Given the description of an element on the screen output the (x, y) to click on. 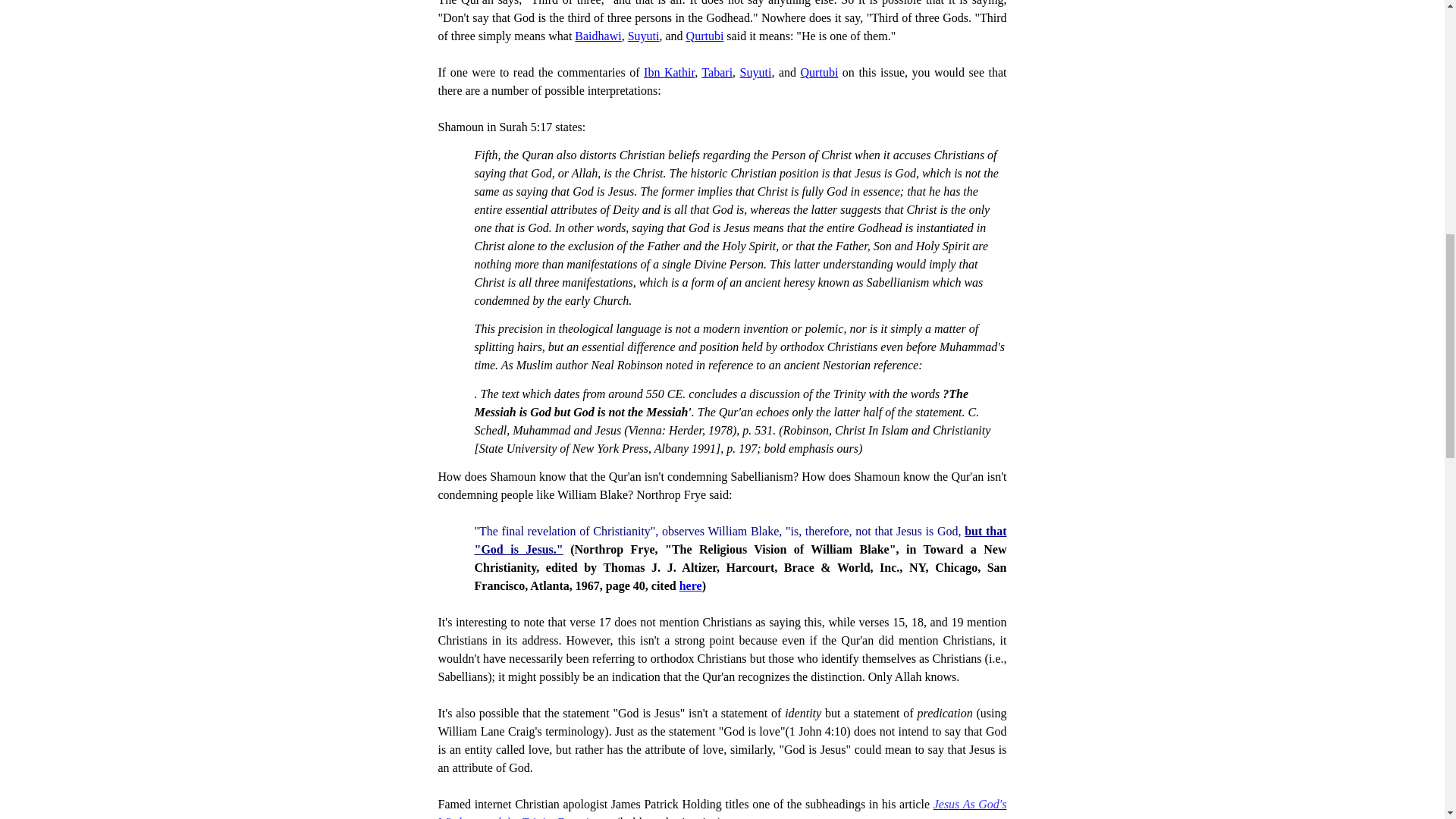
Baidhawi (598, 35)
Suyuti (643, 35)
Tabari (716, 72)
Qurtubi (819, 72)
here (690, 585)
Suyuti (755, 72)
Ibn Kathir (668, 72)
Qurtubi (704, 35)
Jesus As God's Wisdom, and the Trinity Doctrine (722, 808)
